Given the description of an element on the screen output the (x, y) to click on. 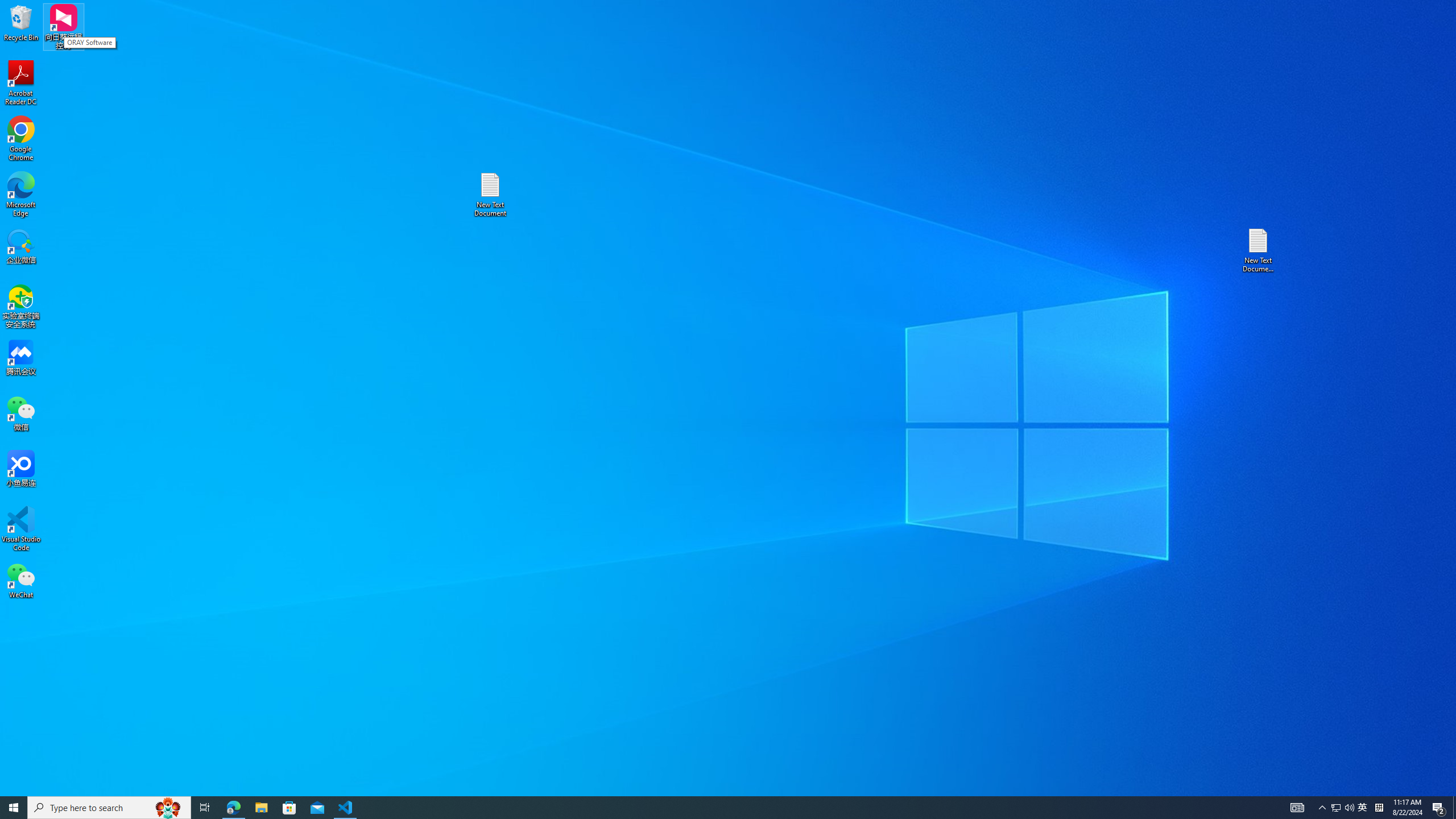
Visual Studio Code (21, 528)
New Text Document (489, 194)
Microsoft Edge (21, 194)
Recycle Bin (21, 22)
Acrobat Reader DC (21, 82)
